Given the description of an element on the screen output the (x, y) to click on. 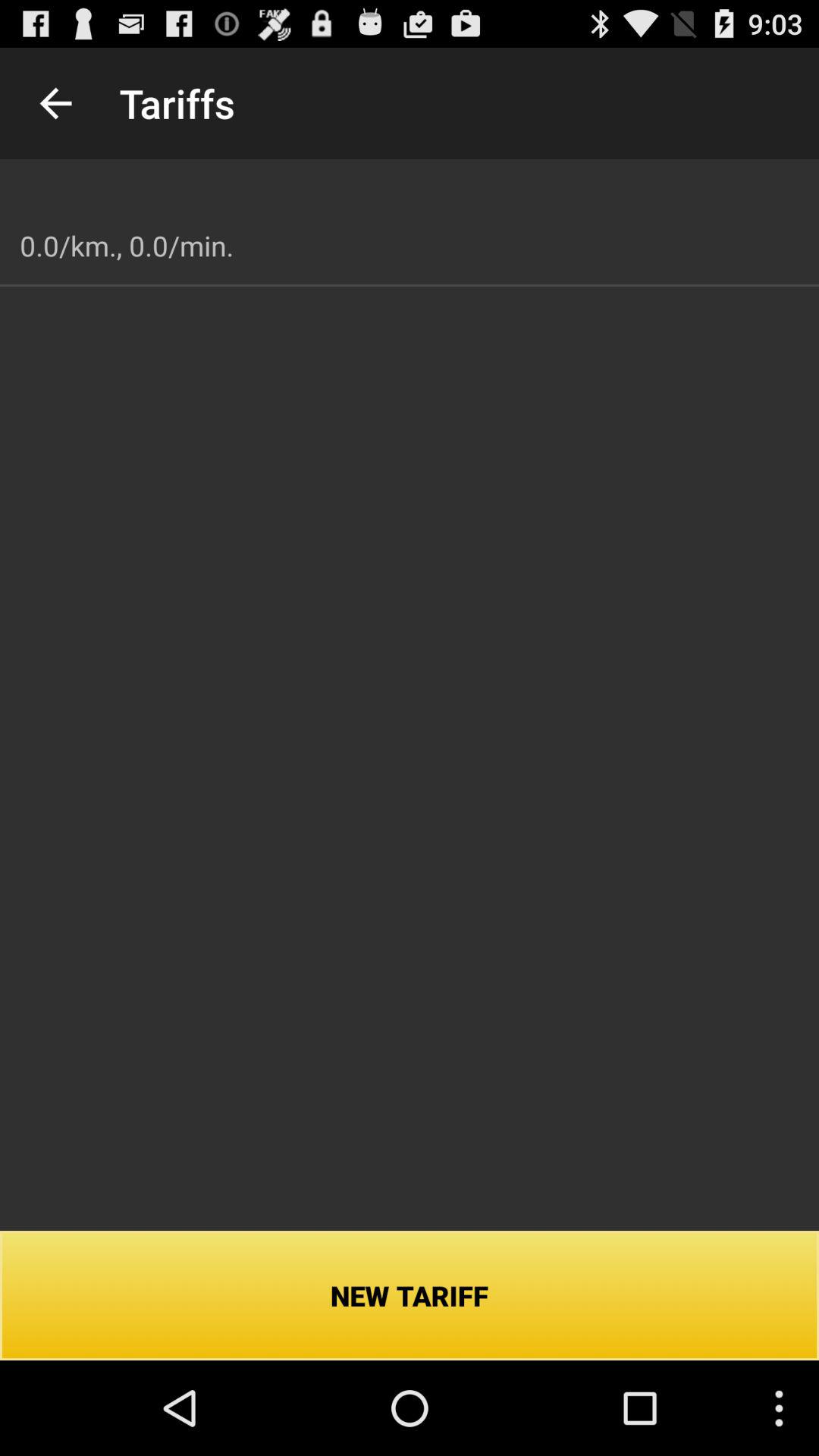
swipe until 0 0 km item (126, 245)
